Given the description of an element on the screen output the (x, y) to click on. 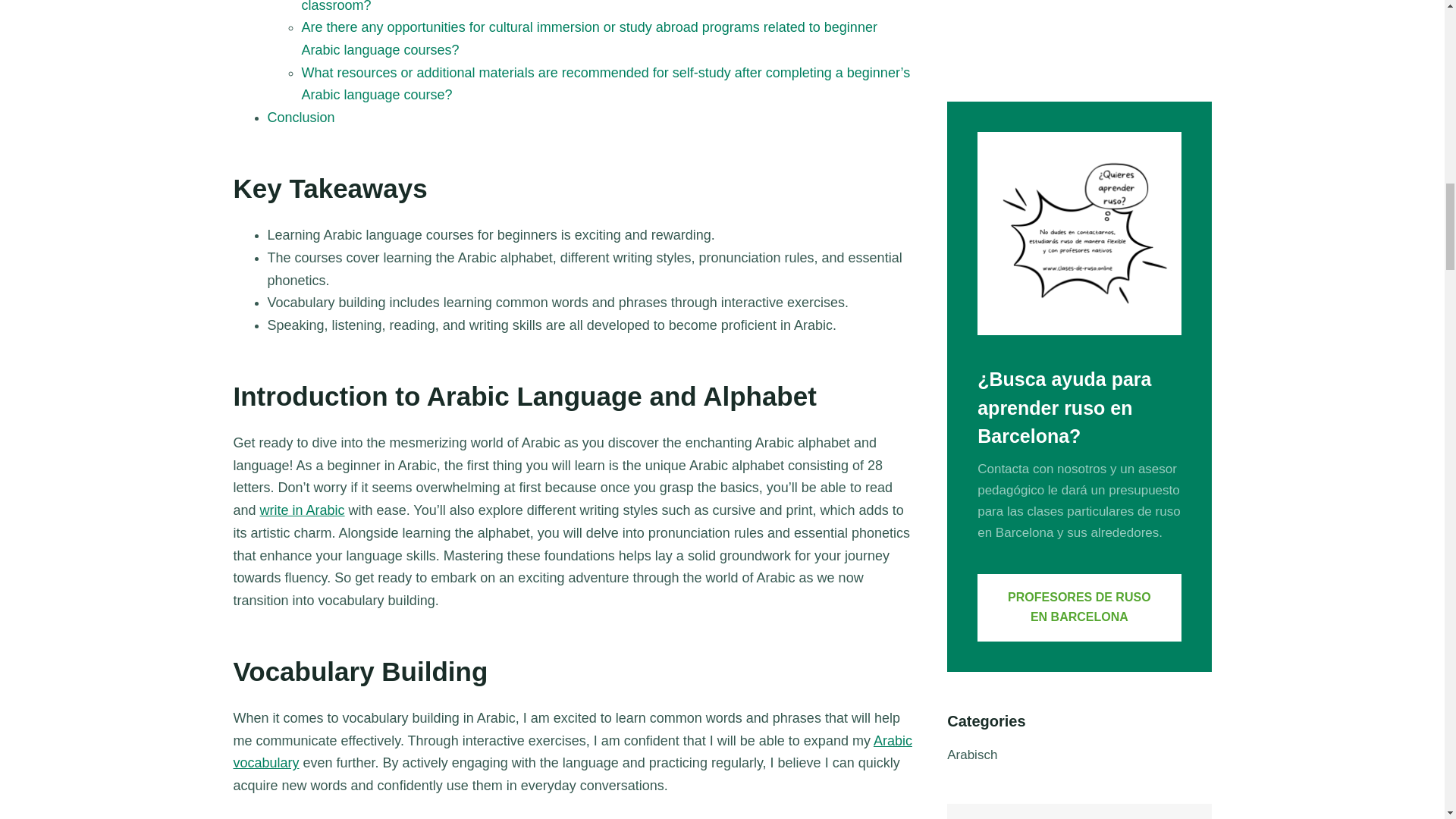
write in Arabic (302, 509)
Conclusion (300, 117)
Arabic vocabulary (572, 752)
